Given the description of an element on the screen output the (x, y) to click on. 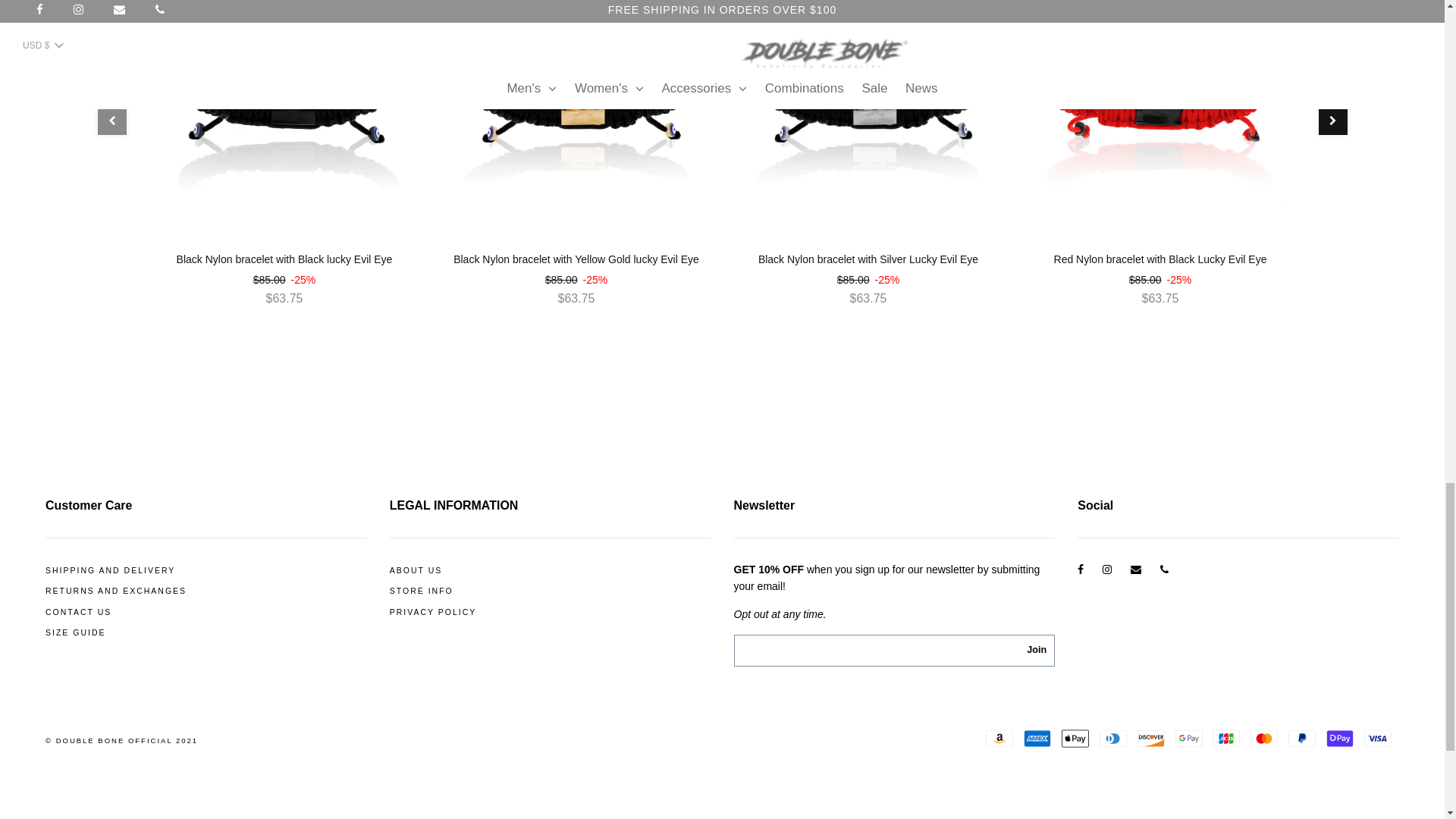
Visa (1377, 738)
Shop Pay (1340, 738)
Mastercard (1264, 738)
Amazon (999, 738)
Google Pay (1188, 738)
JCB (1226, 738)
Discover (1150, 738)
Apple Pay (1075, 738)
Join (1036, 650)
Diners Club (1112, 738)
American Express (1037, 738)
PayPal (1302, 738)
